Given the description of an element on the screen output the (x, y) to click on. 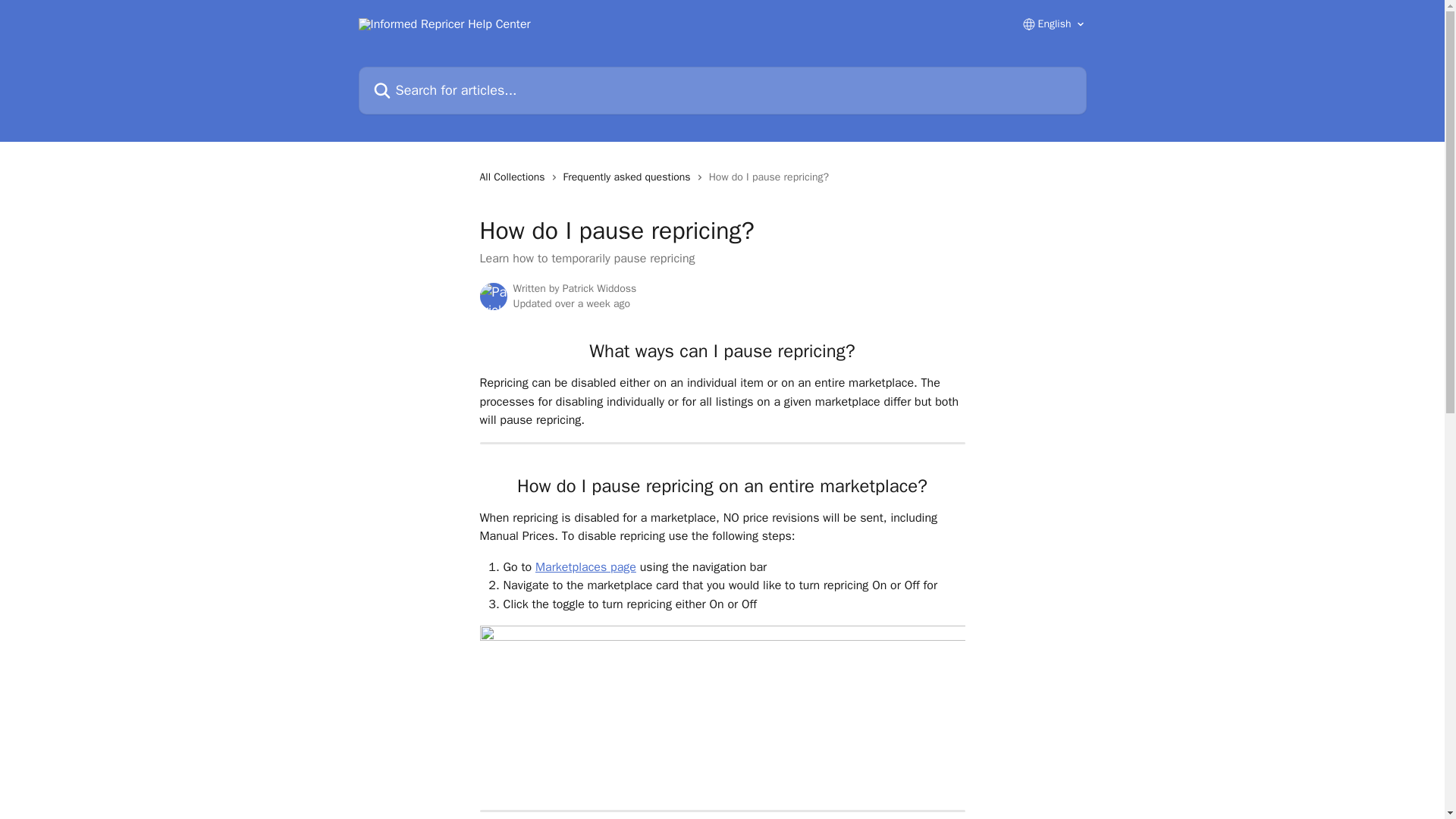
Marketplaces page (585, 566)
All Collections (514, 176)
Frequently asked questions (630, 176)
